Given the description of an element on the screen output the (x, y) to click on. 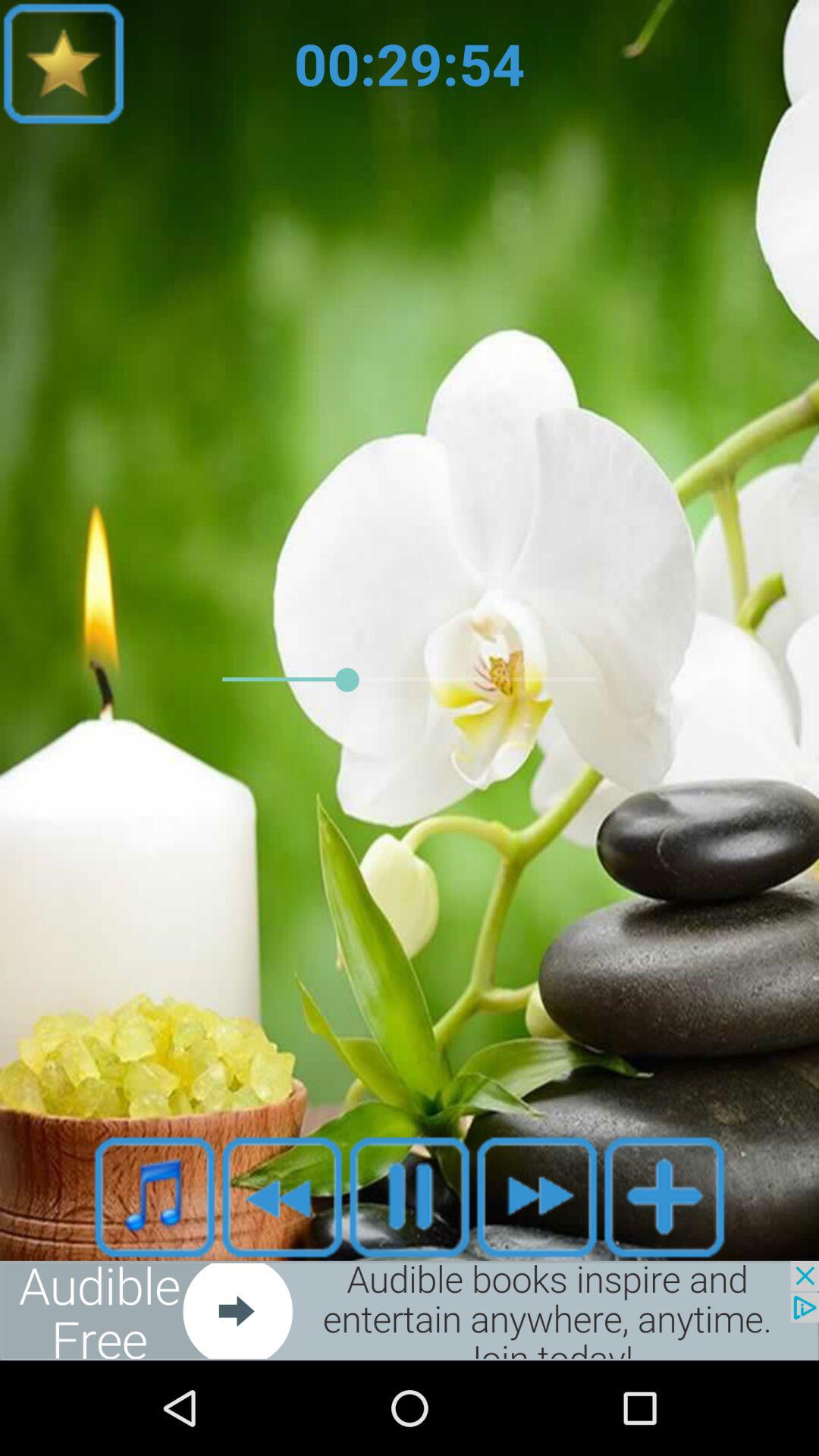
undo button (281, 1196)
